Given the description of an element on the screen output the (x, y) to click on. 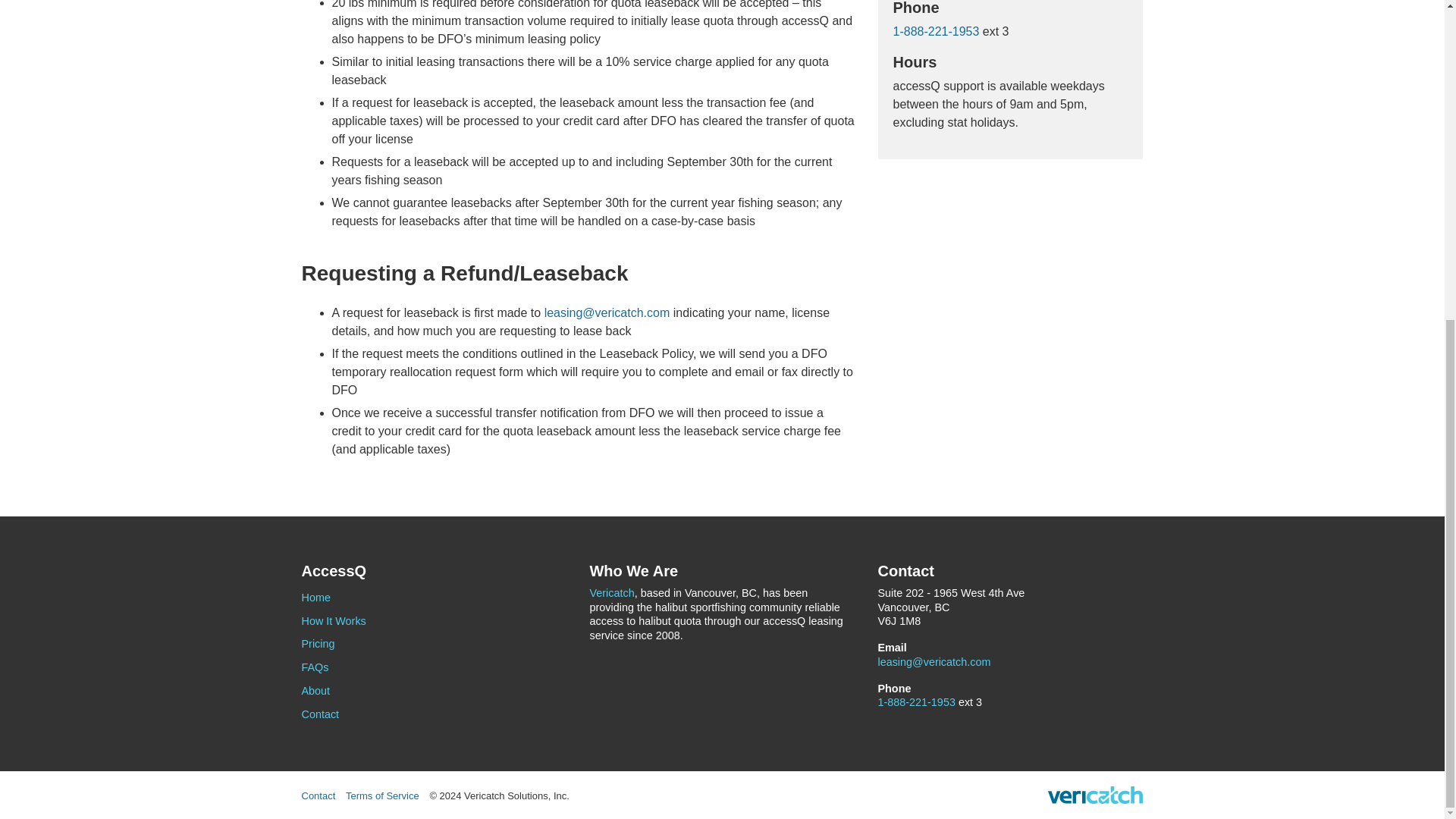
Pricing (434, 644)
Vericatch (611, 592)
1-888-221-1953 (916, 702)
Terms of Service (382, 796)
Vericatch Solutions Inc. (1095, 794)
Contact (434, 714)
Contact (318, 796)
About (434, 690)
How It Works (434, 621)
Vericatch Solutions Inc. (1095, 794)
FAQs (434, 667)
Home (434, 597)
1-888-221-1953 (936, 31)
